Given the description of an element on the screen output the (x, y) to click on. 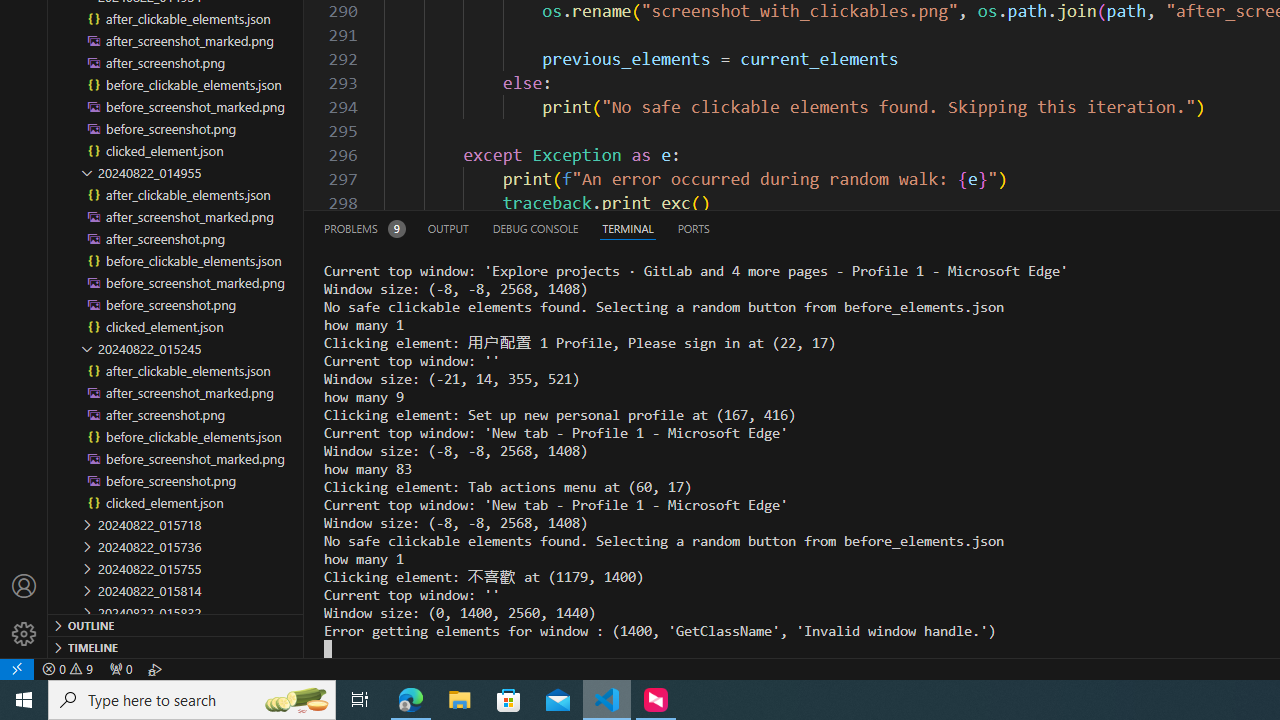
Timeline Section (175, 646)
Debug:  (155, 668)
Output (Ctrl+Shift+U) (447, 228)
Accounts (24, 585)
Terminal (Ctrl+`) (627, 228)
remote (17, 668)
Warnings: 9 (67, 668)
No Ports Forwarded (120, 668)
Ports (693, 228)
Debug Console (Ctrl+Shift+Y) (535, 228)
Problems (Ctrl+Shift+M) - Total 9 Problems (364, 228)
Outline Section (175, 624)
